Given the description of an element on the screen output the (x, y) to click on. 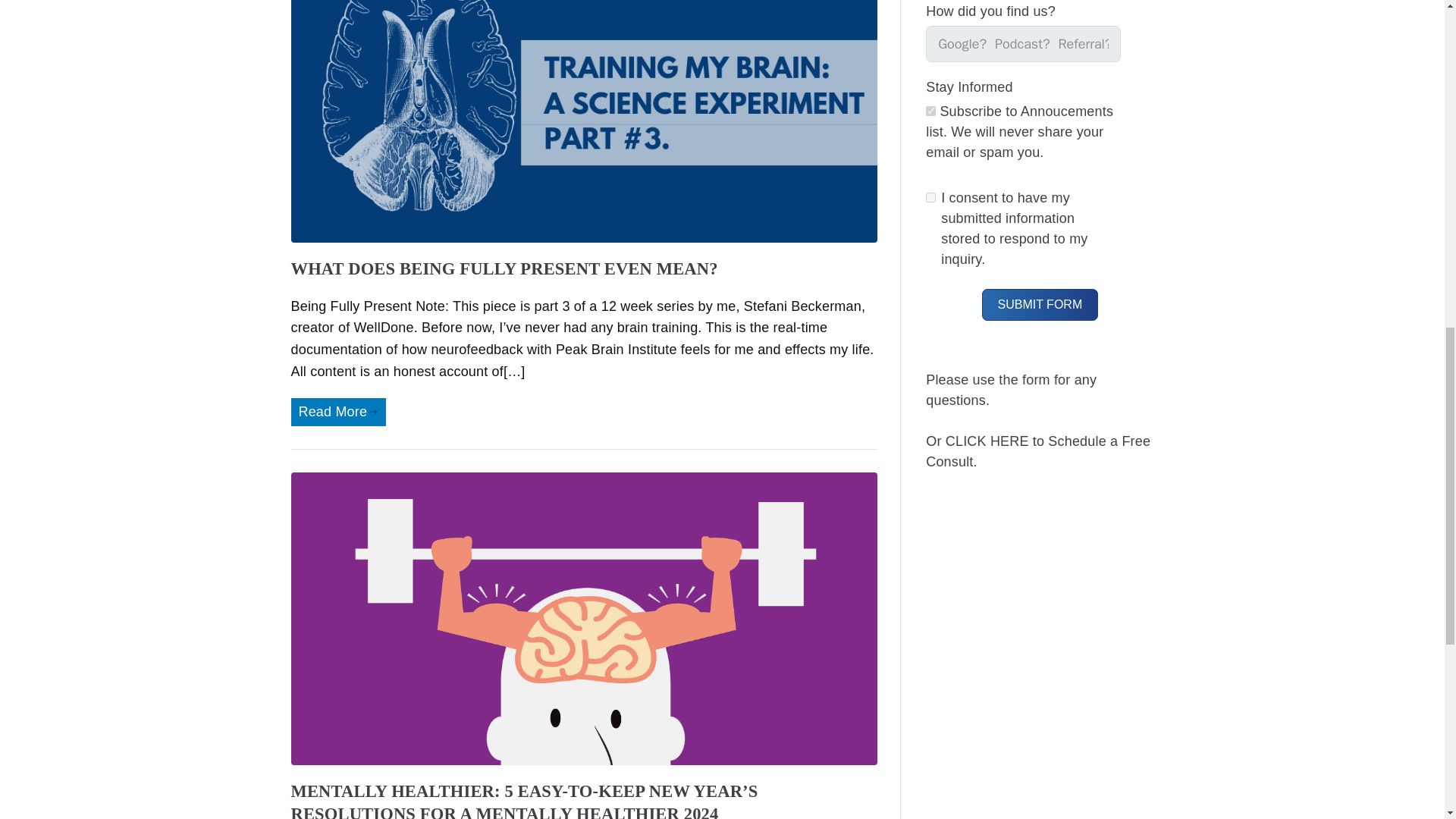
on (931, 197)
Read More (338, 411)
WHAT DOES BEING FULLY PRESENT EVEN MEAN? (504, 268)
